Given the description of an element on the screen output the (x, y) to click on. 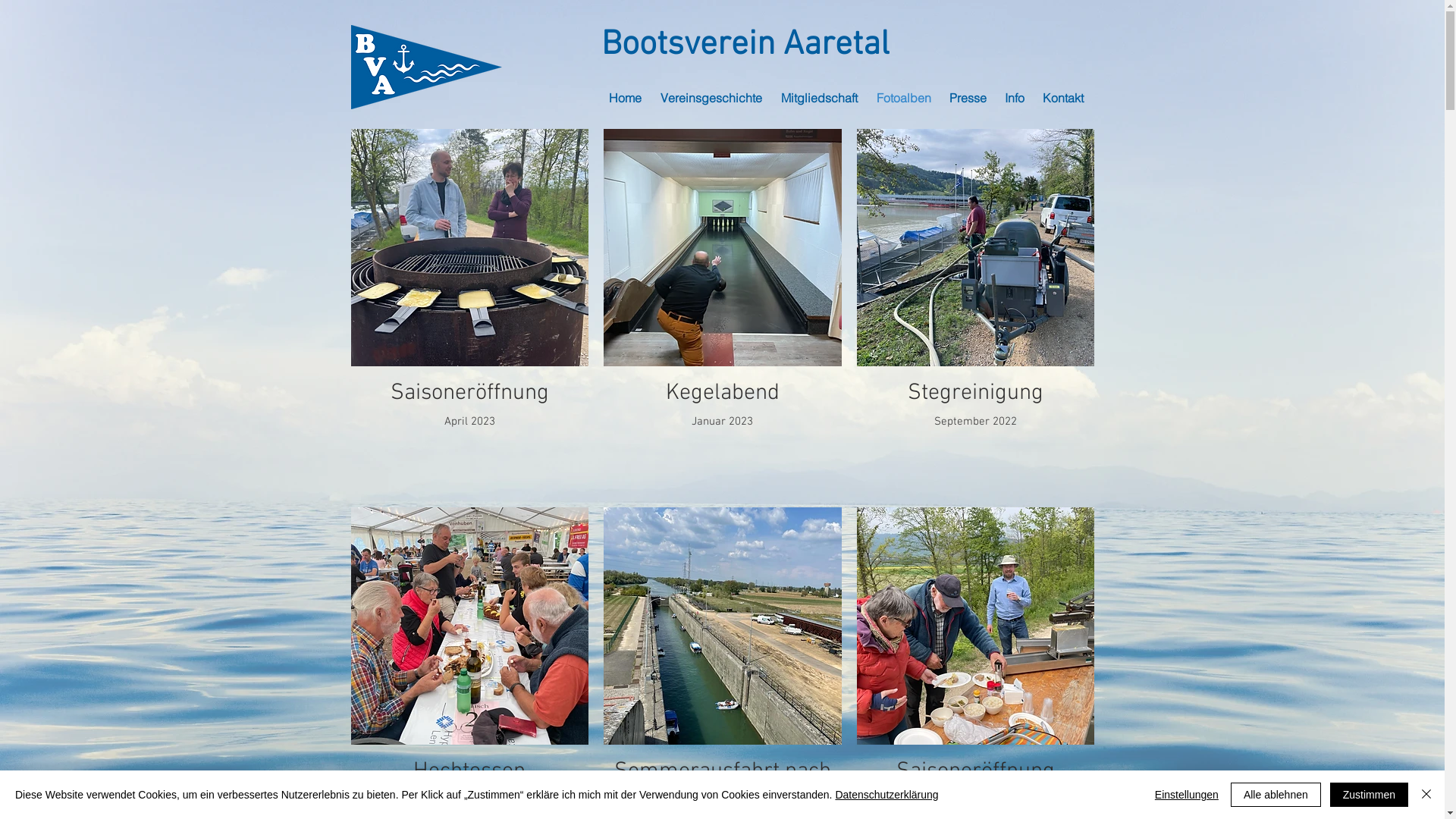
Info Element type: text (1015, 97)
Presse Element type: text (969, 97)
Fotoalben Element type: text (905, 97)
Zustimmen Element type: text (1369, 794)
Vereinsgeschichte Element type: text (712, 97)
Mitgliedschaft Element type: text (821, 97)
Home Element type: text (626, 97)
Bootsverein Aaretal Element type: text (744, 45)
Alle ablehnen Element type: text (1275, 794)
Kontakt Element type: text (1063, 97)
